Given the description of an element on the screen output the (x, y) to click on. 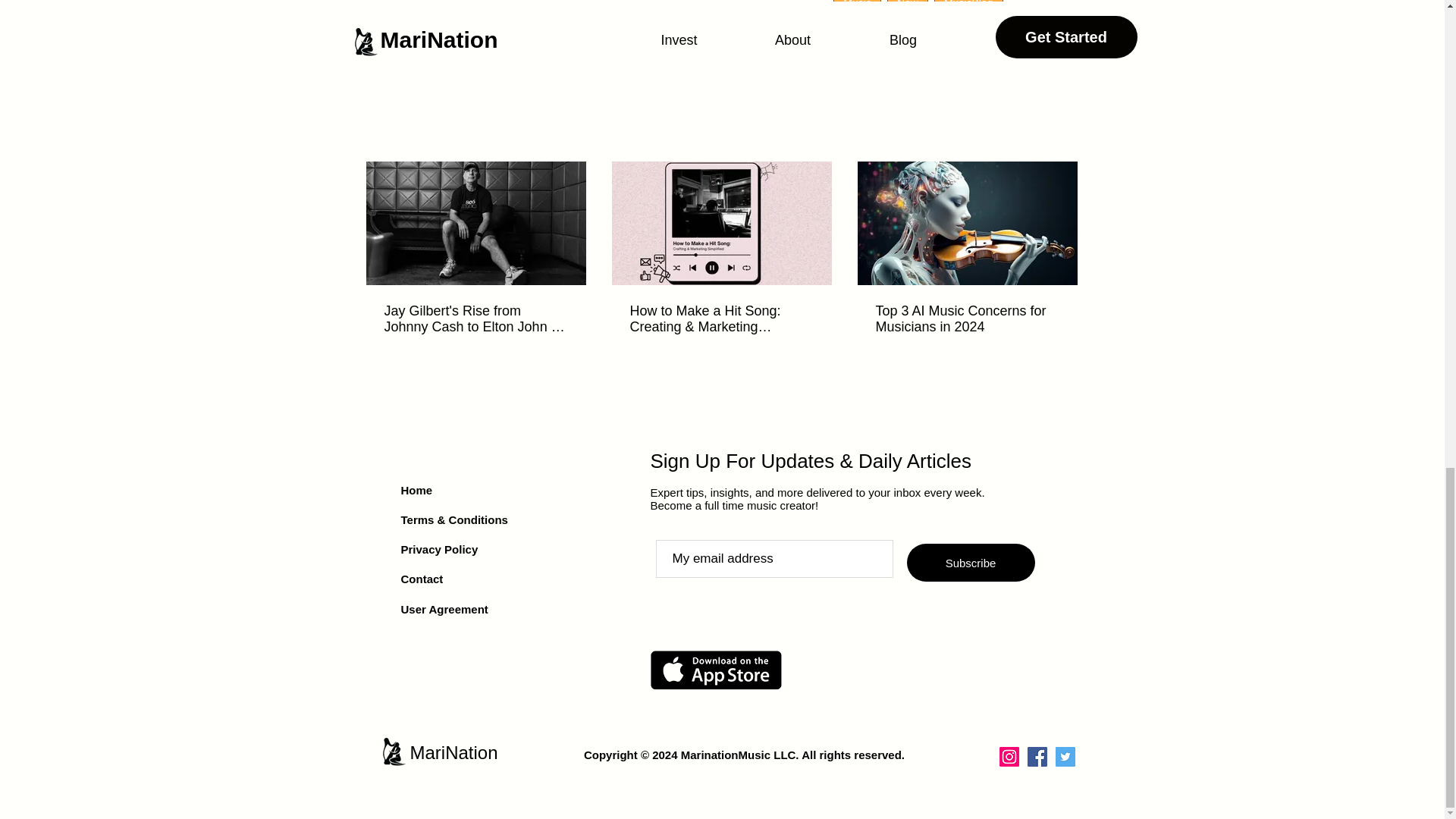
Music (856, 7)
Privacy Policy (438, 549)
MusicBlog (968, 7)
New (907, 7)
Subscribe (971, 562)
User Agreement (443, 608)
Top 3 AI Music Concerns for Musicians in 2024 (966, 318)
Home (416, 490)
Contact (421, 578)
